Given the description of an element on the screen output the (x, y) to click on. 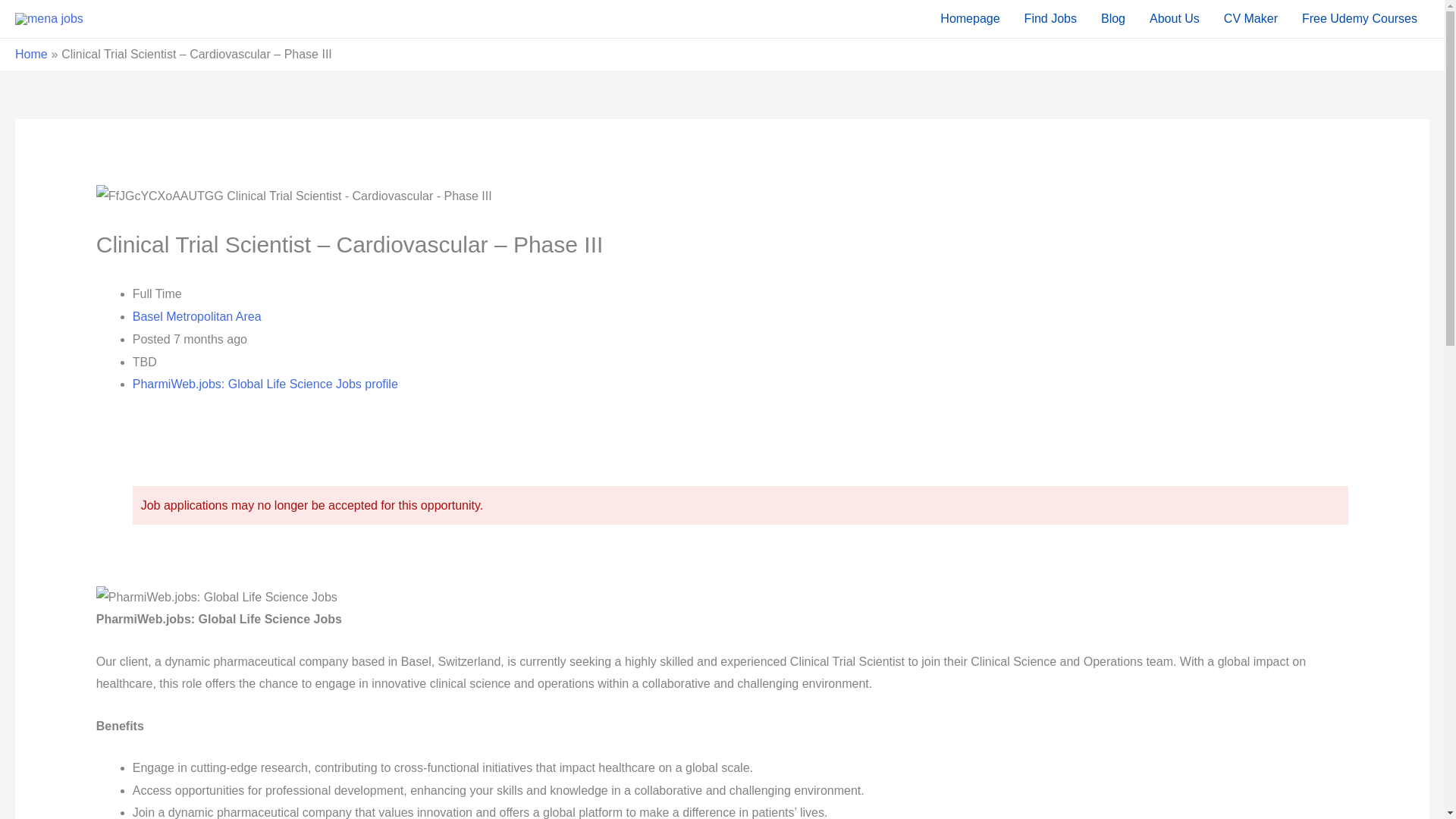
About Us (1174, 18)
CV Maker (1250, 18)
Clinical Trial Scientist - Cardiovascular - Phase III 2 (294, 196)
Home (31, 53)
Free Udemy Courses (1359, 18)
Basel Metropolitan Area (197, 316)
Clinical Trial Scientist - Cardiovascular - Phase III 3 (216, 597)
Homepage (969, 18)
PharmiWeb.jobs: Global Life Science Jobs profile (264, 383)
Find Jobs (1050, 18)
